Given the description of an element on the screen output the (x, y) to click on. 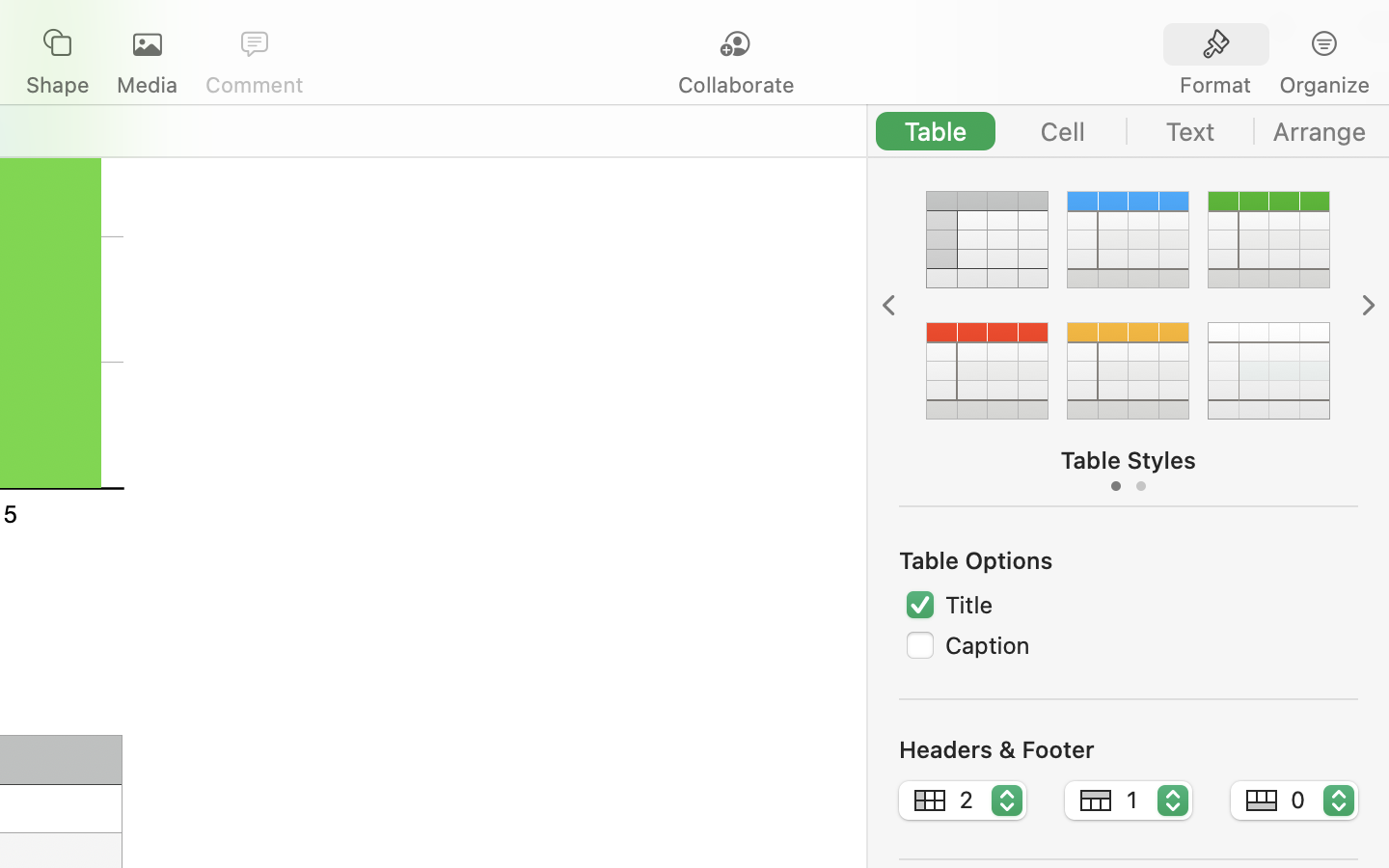
<AXUIElement 0x146bd92d0> {pid=1420} Element type: AXRadioGroup (1128, 131)
